Given the description of an element on the screen output the (x, y) to click on. 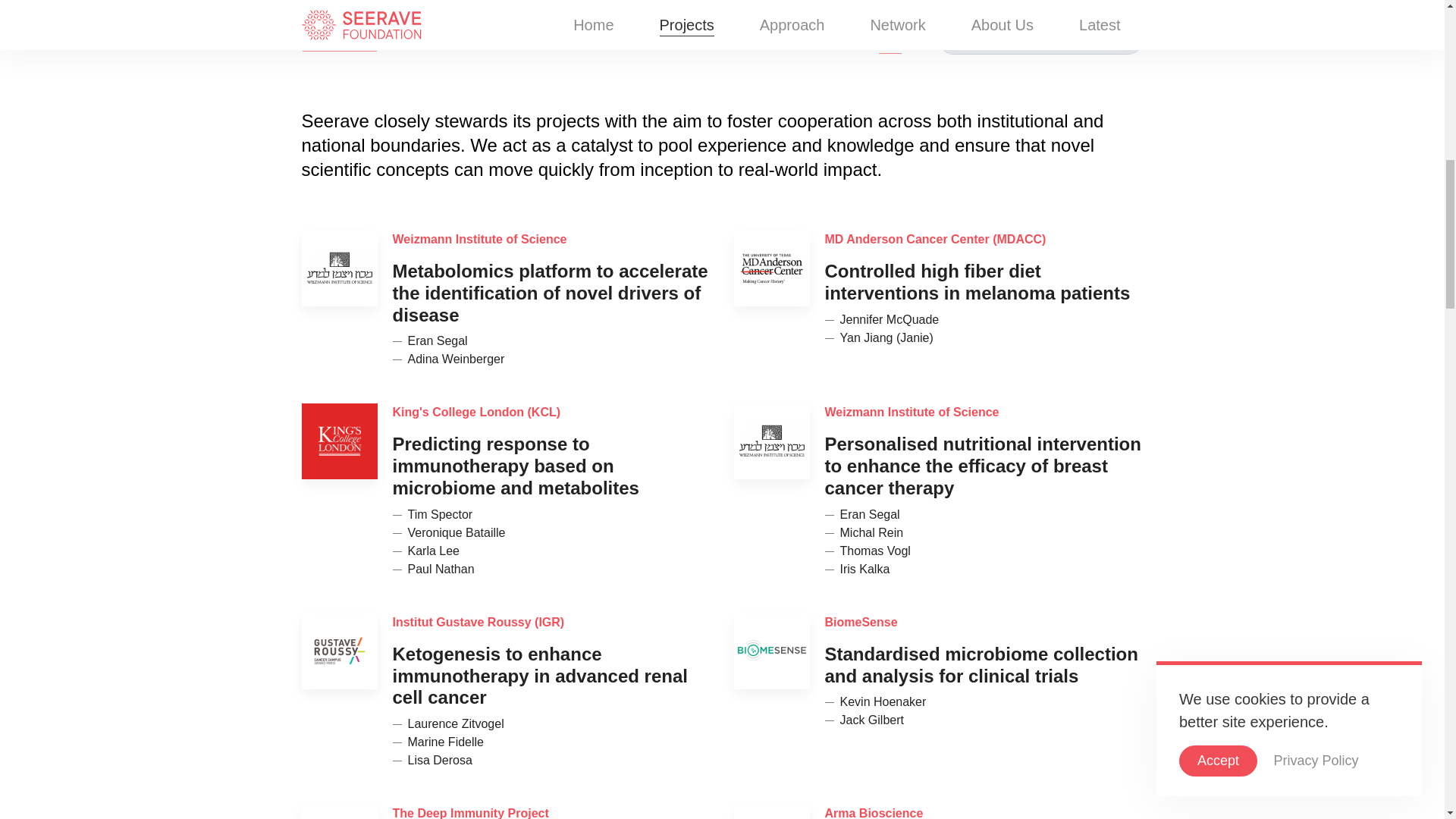
All Projects (339, 38)
Venture Philanthropy (746, 38)
Science Philanthropy (446, 38)
Translational Philanthropy (597, 38)
